Given the description of an element on the screen output the (x, y) to click on. 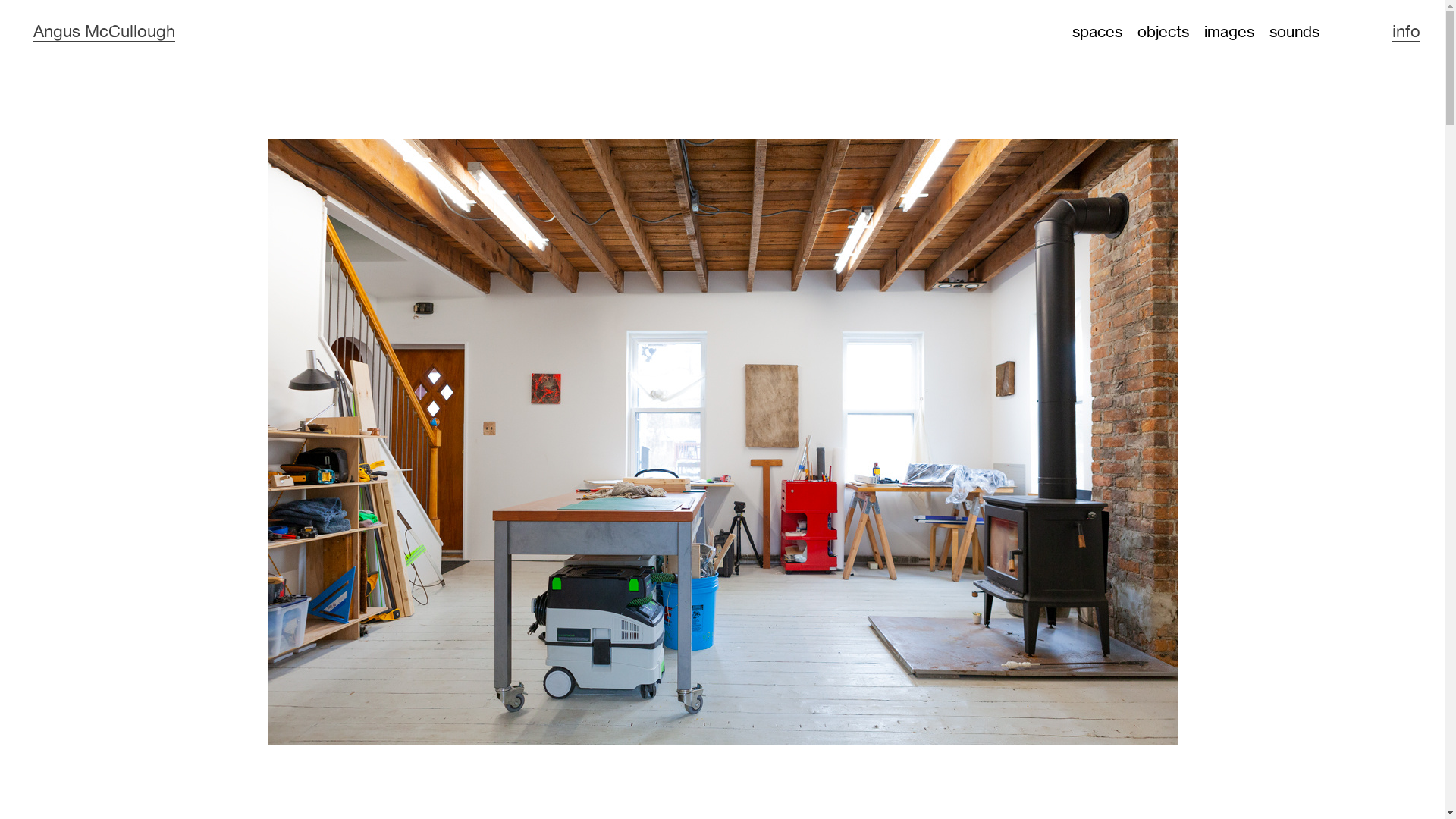
ngus McCullough Element type: text (109, 31)
images Element type: text (1229, 30)
sounds Element type: text (1294, 30)
info Element type: text (1406, 31)
A Element type: text (38, 31)
spaces Element type: text (1097, 30)
objects Element type: text (1163, 30)
